Given the description of an element on the screen output the (x, y) to click on. 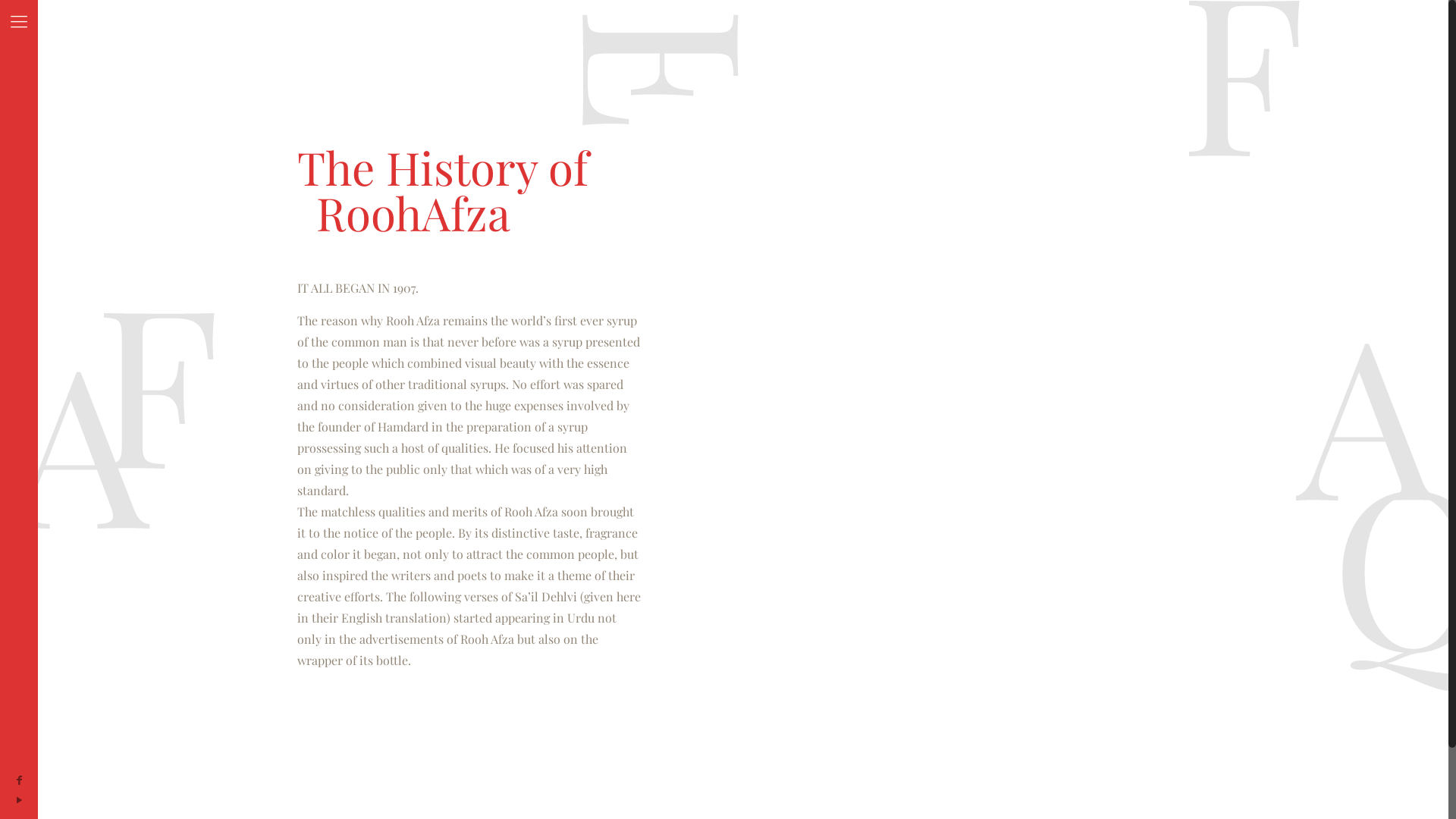
Facebook Element type: hover (18, 779)
YouTube Element type: hover (18, 799)
